Given the description of an element on the screen output the (x, y) to click on. 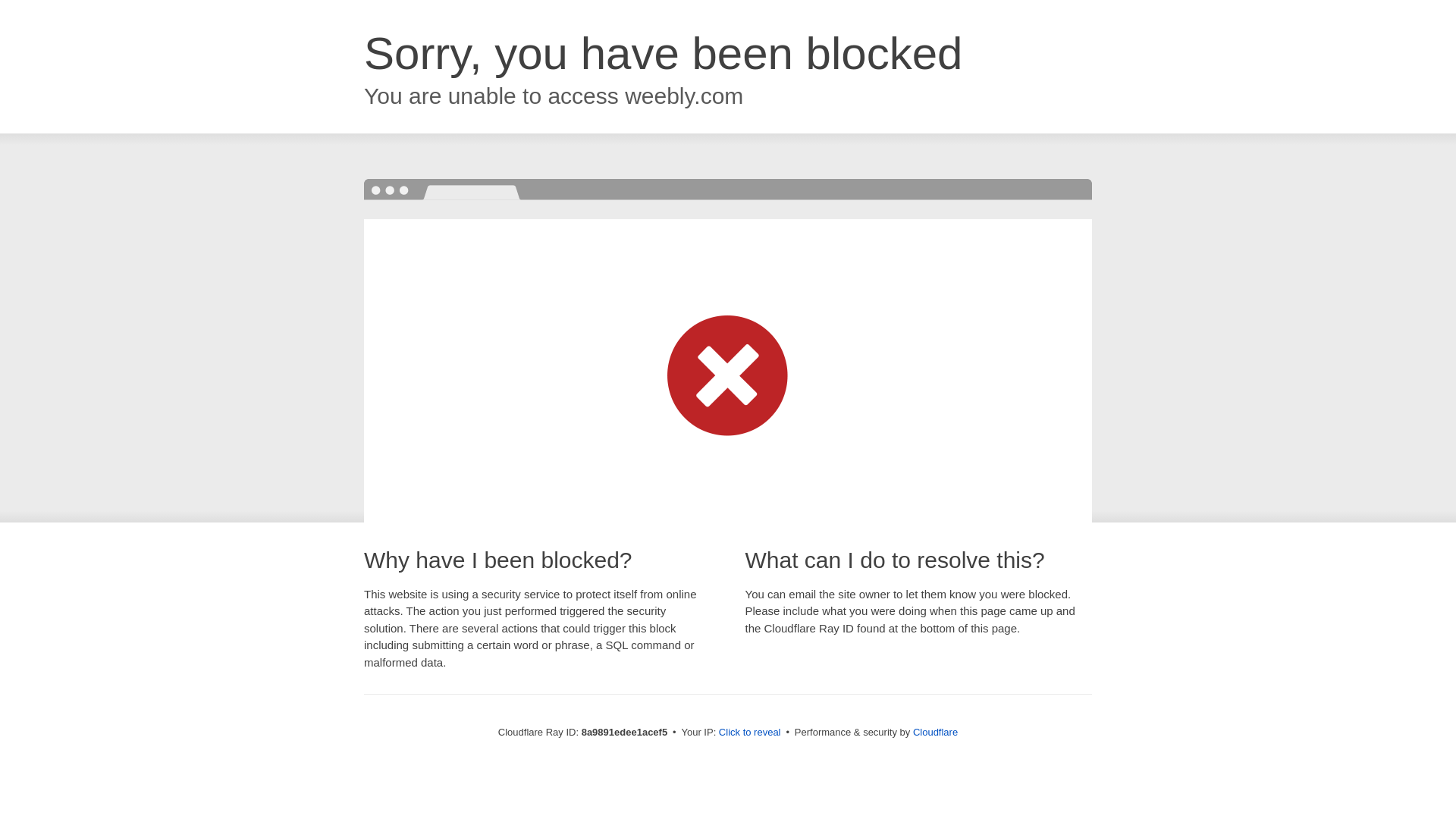
Click to reveal (749, 732)
Cloudflare (935, 731)
